Given the description of an element on the screen output the (x, y) to click on. 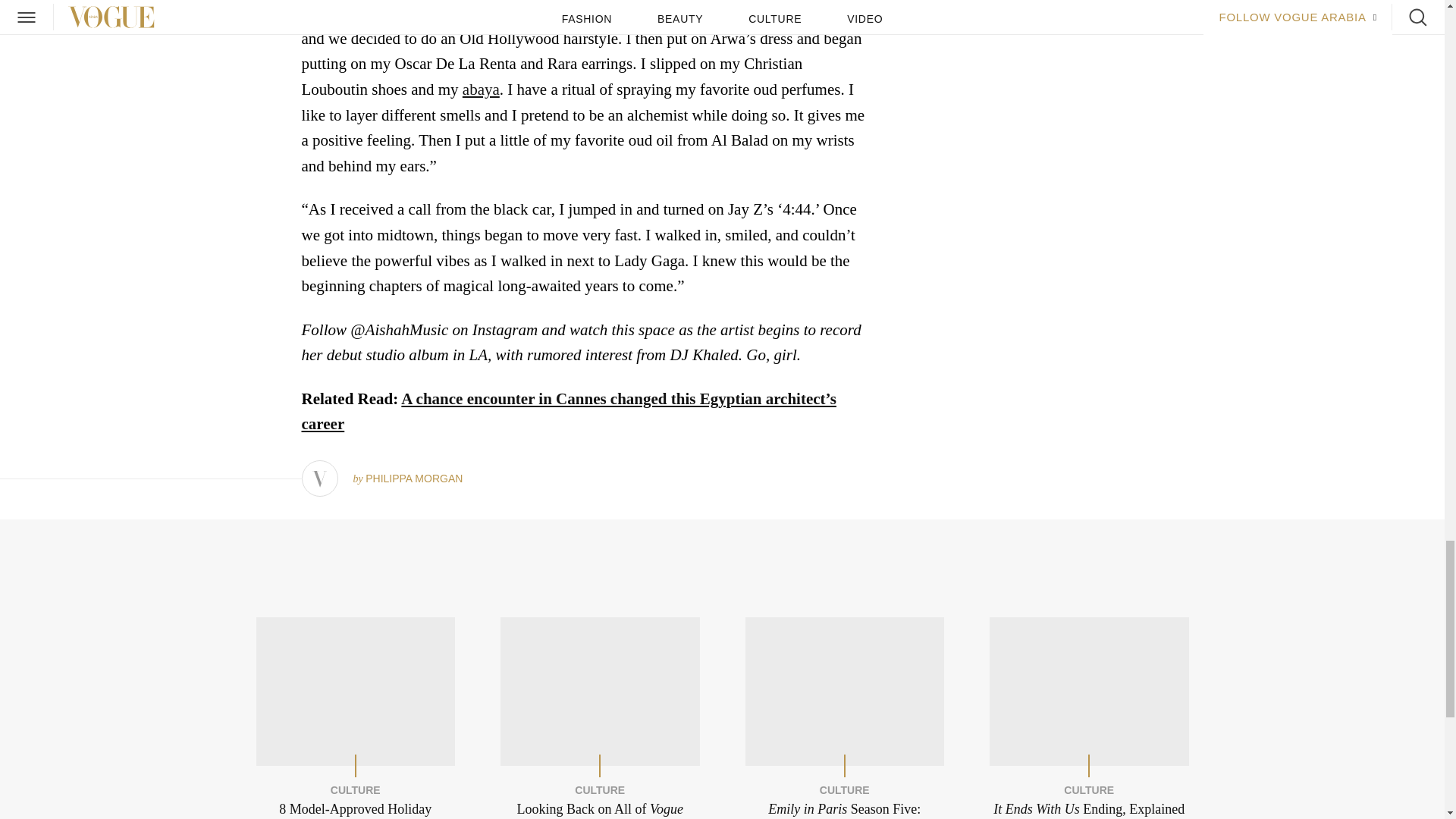
abaya (481, 89)
PHILIPPA MORGAN (414, 478)
CULTURE (355, 789)
Posts by Philippa Morgan (414, 478)
CULTURE (599, 789)
